Given the description of an element on the screen output the (x, y) to click on. 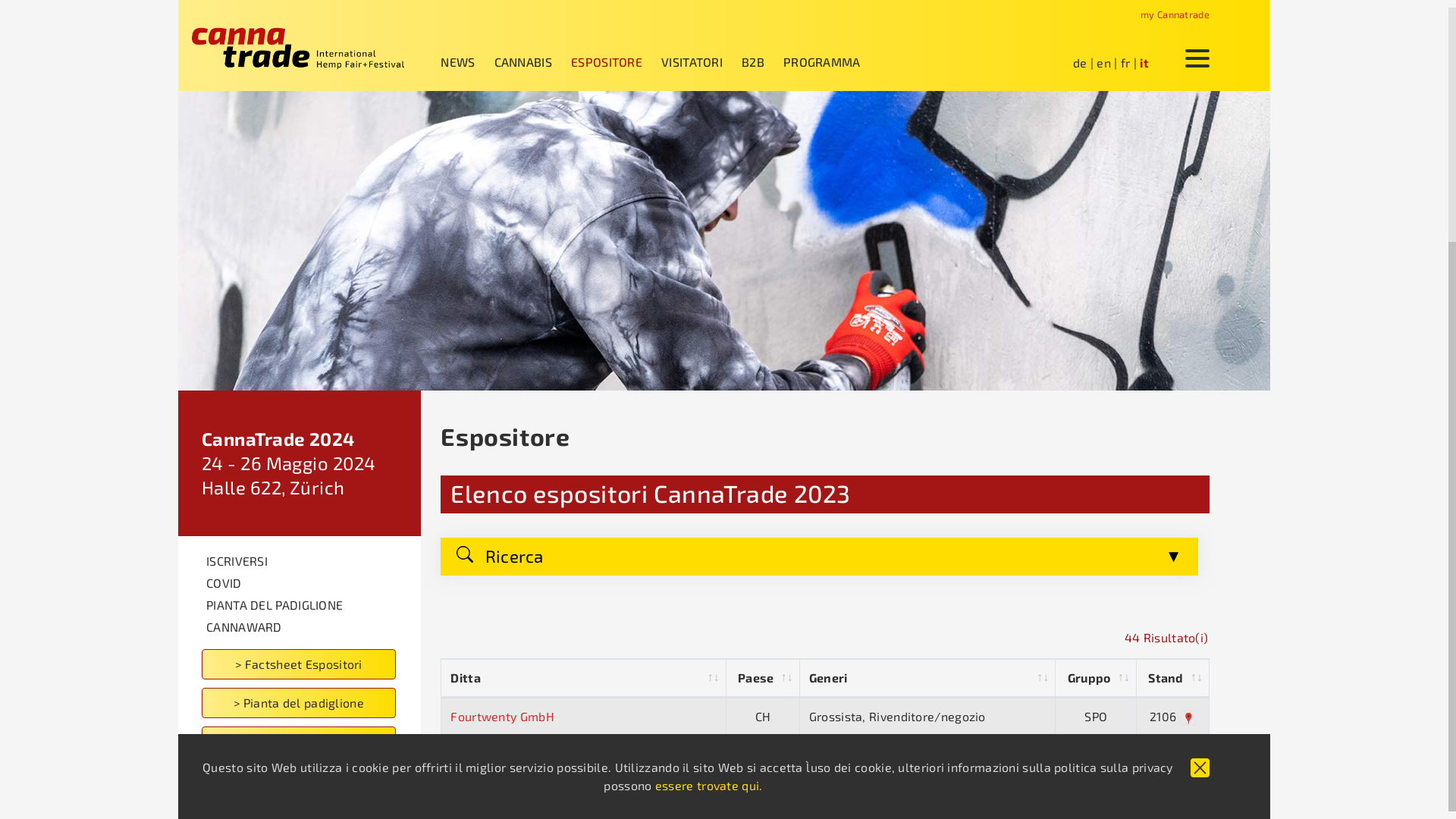
VISITATORI Element type: text (701, 62)
> Factsheet Espositori Element type: text (307, 663)
HallenPlan Element type: hover (1187, 717)
HallenPlan Element type: hover (1184, 792)
fr Element type: text (1125, 62)
de Element type: text (1080, 62)
CANNABIS Element type: text (532, 62)
Ricerca Element type: text (819, 556)
HallenPlan Element type: hover (1184, 754)
PROGRAMMA Element type: text (831, 62)
> Factsheet Espositori Element type: text (298, 664)
it Element type: text (1143, 62)
CANNAWARD Element type: text (307, 626)
ISCRIVERSI Element type: text (307, 560)
> CB Events Element type: text (298, 741)
en Element type: text (1103, 62)
Menu Element type: hover (1197, 58)
Guttentag Solutions GmbH (CBD-Test) Element type: text (558, 790)
> CB Events Element type: text (307, 741)
PIANTA DEL PADIGLIONE Element type: text (307, 604)
Gizeh Raucherbedarf GmbH Element type: text (528, 753)
COVID Element type: text (307, 582)
PIANTA DEL PADIGLIONE Element type: text (298, 605)
COVID Element type: text (298, 583)
> Pianta del padiglione Element type: text (307, 702)
Fourtwenty GmbH Element type: text (502, 716)
> Pianta del padiglione Element type: text (298, 702)
essere trovate qui. Element type: text (713, 785)
ISCRIVERSI Element type: text (298, 561)
my Cannatrade Element type: text (1174, 14)
B2B Element type: text (762, 62)
ESPOSITORE Element type: text (616, 62)
CANNAWARD Element type: text (298, 627)
NEWS Element type: text (466, 62)
